Given the description of an element on the screen output the (x, y) to click on. 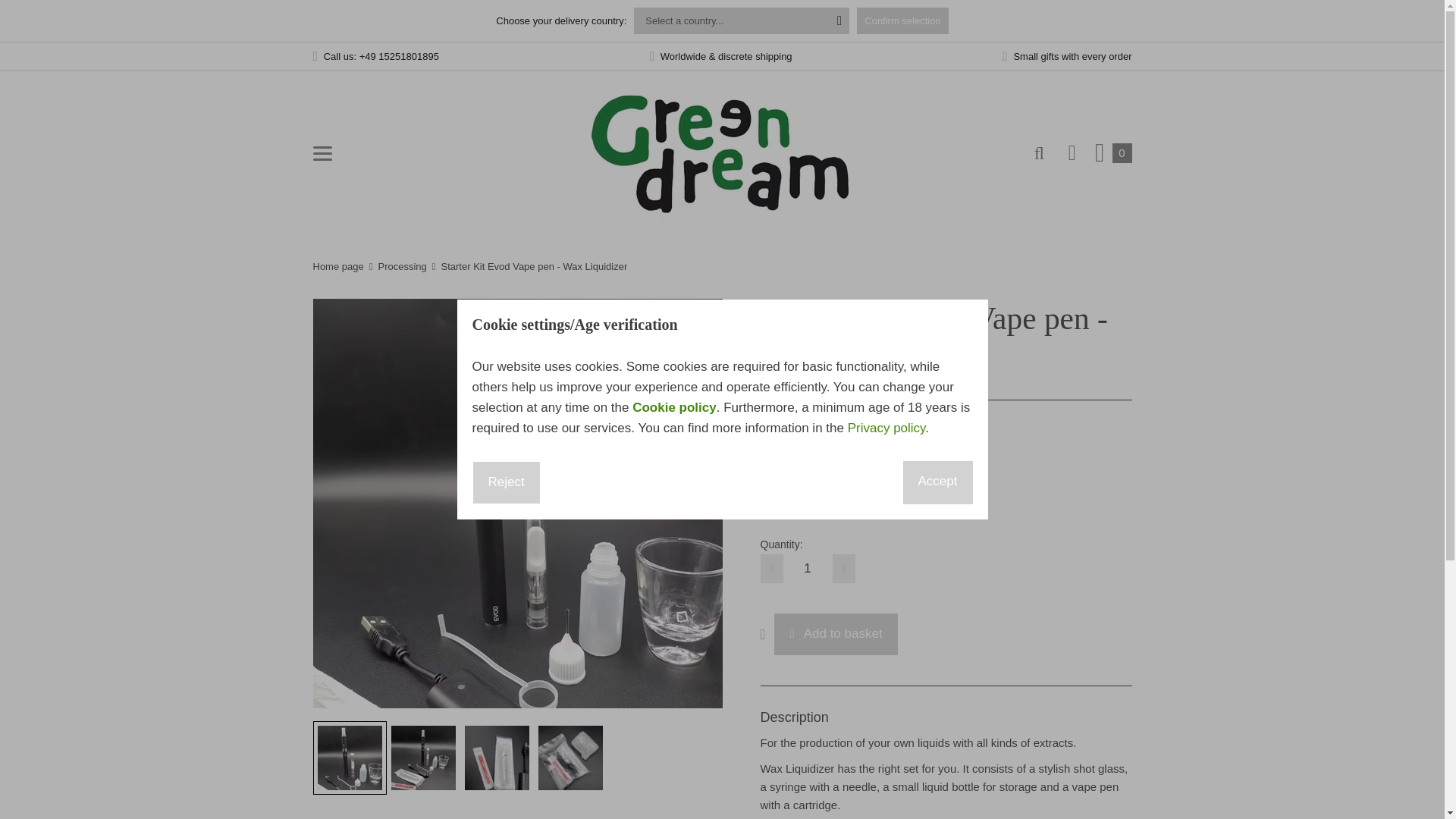
Add to wish list (767, 634)
1 (807, 568)
Confirm selection (902, 20)
Greendream Vaporizer, Headshop and Smokingaccessories (721, 152)
